Given the description of an element on the screen output the (x, y) to click on. 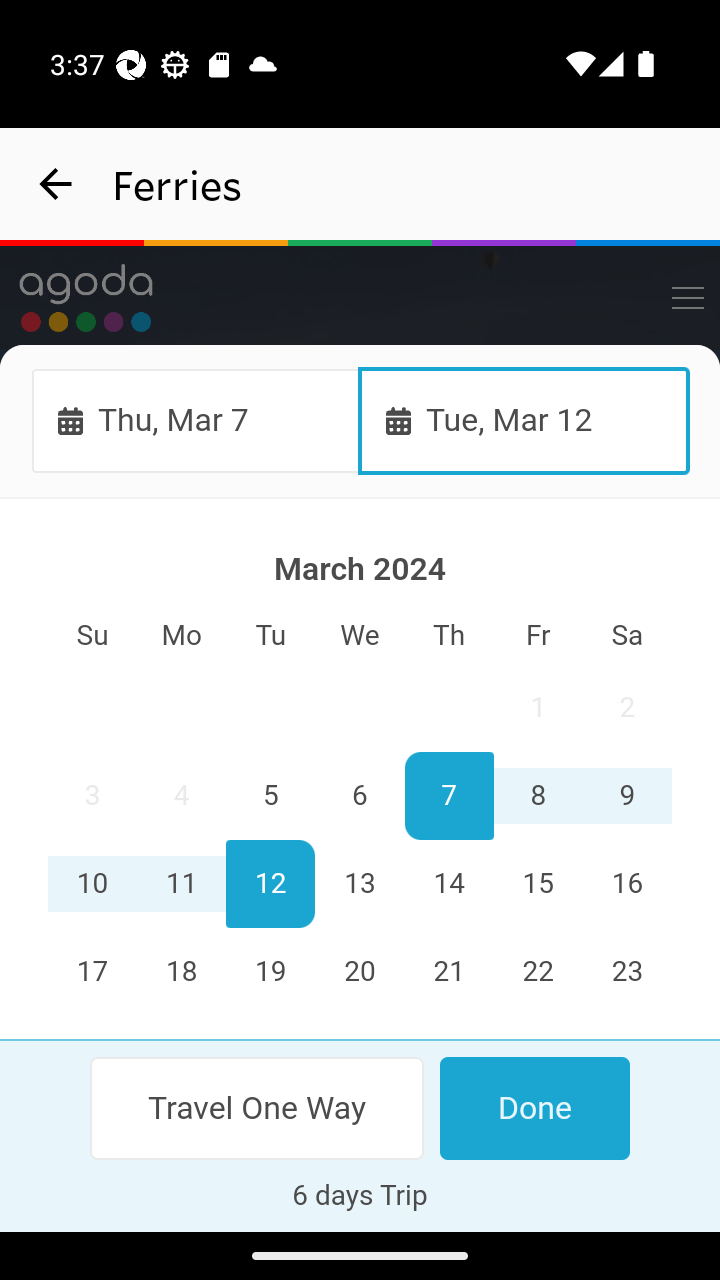
navigation_button (56, 184)
Thu, Mar 7 (195, 420)
Tue, Mar 12 (524, 420)
1 (537, 708)
2 (626, 708)
3 (93, 797)
4 (182, 797)
5 (271, 797)
6 (359, 797)
7 (448, 797)
8 (537, 797)
9 (626, 797)
10 (93, 884)
11 (182, 884)
12 (271, 884)
13 (359, 884)
14 (448, 884)
15 (537, 884)
16 (626, 884)
17 (93, 972)
18 (182, 972)
19 (271, 972)
20 (359, 972)
21 (448, 972)
22 (537, 972)
23 (626, 972)
Travel One Way (258, 1107)
Done (534, 1107)
